Given the description of an element on the screen output the (x, y) to click on. 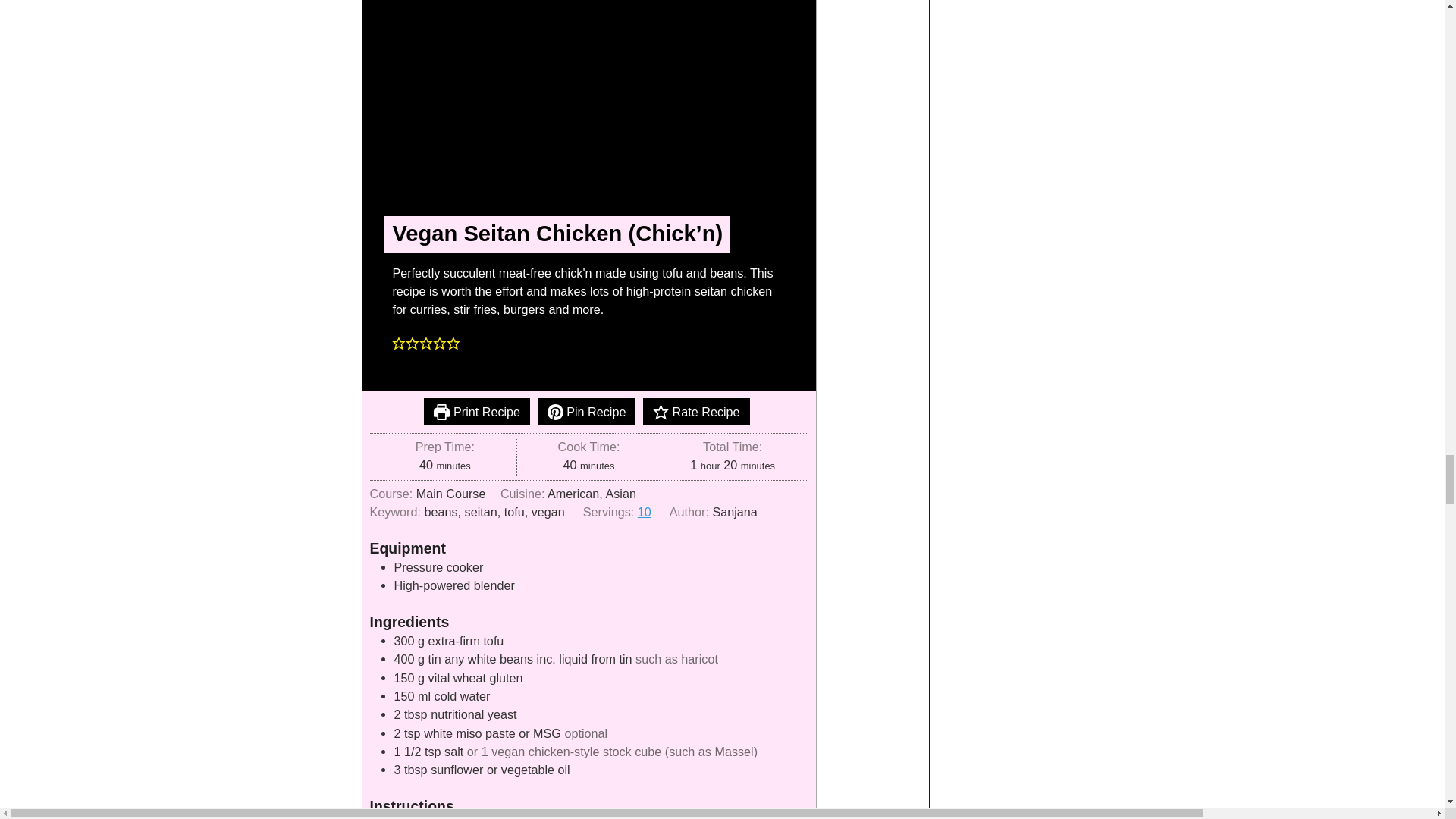
10 (643, 511)
Pin Recipe (586, 411)
Rate Recipe (696, 411)
Print Recipe (476, 411)
